Given the description of an element on the screen output the (x, y) to click on. 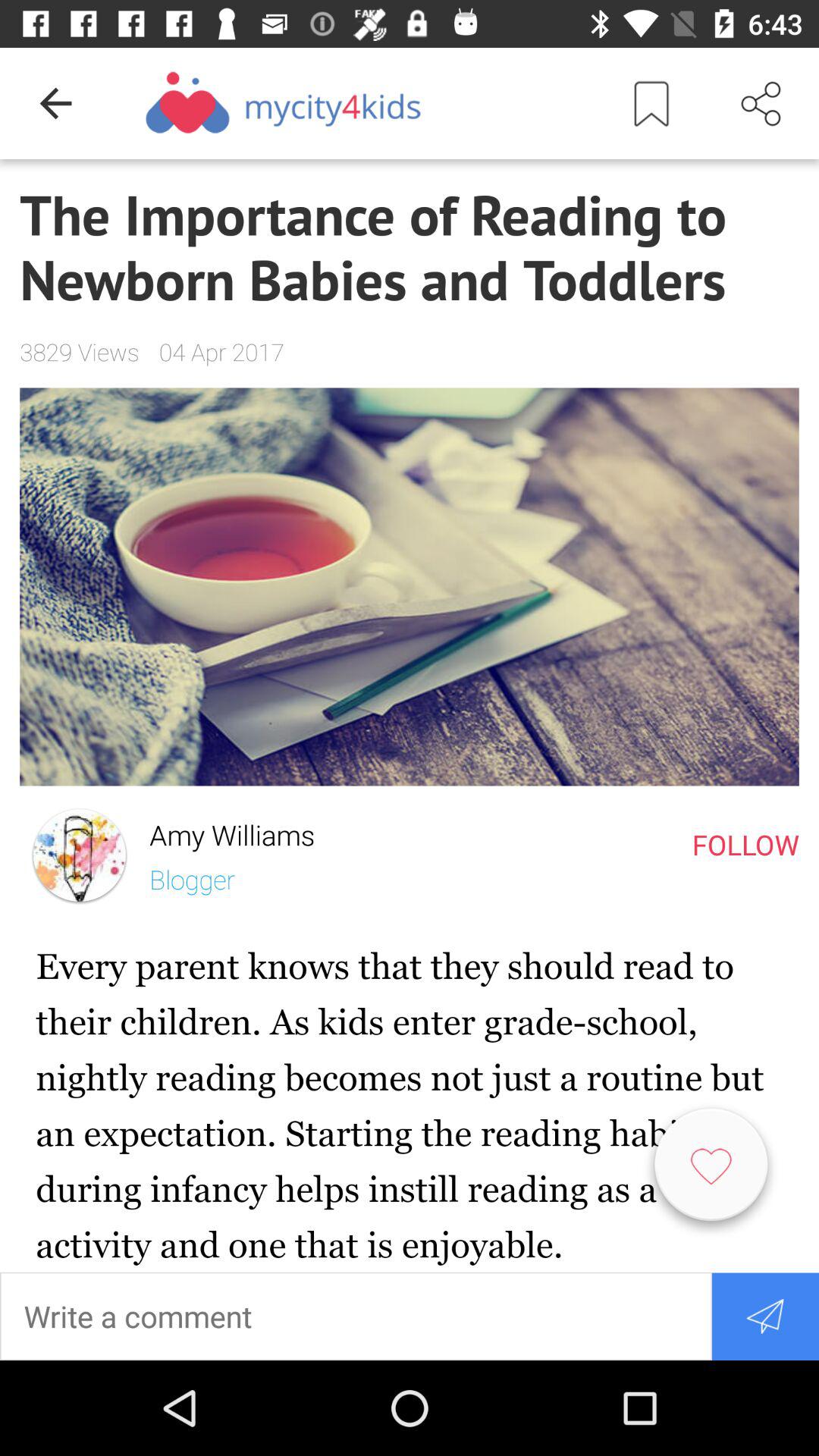
turn off the item to the right of amy williams item (745, 844)
